Given the description of an element on the screen output the (x, y) to click on. 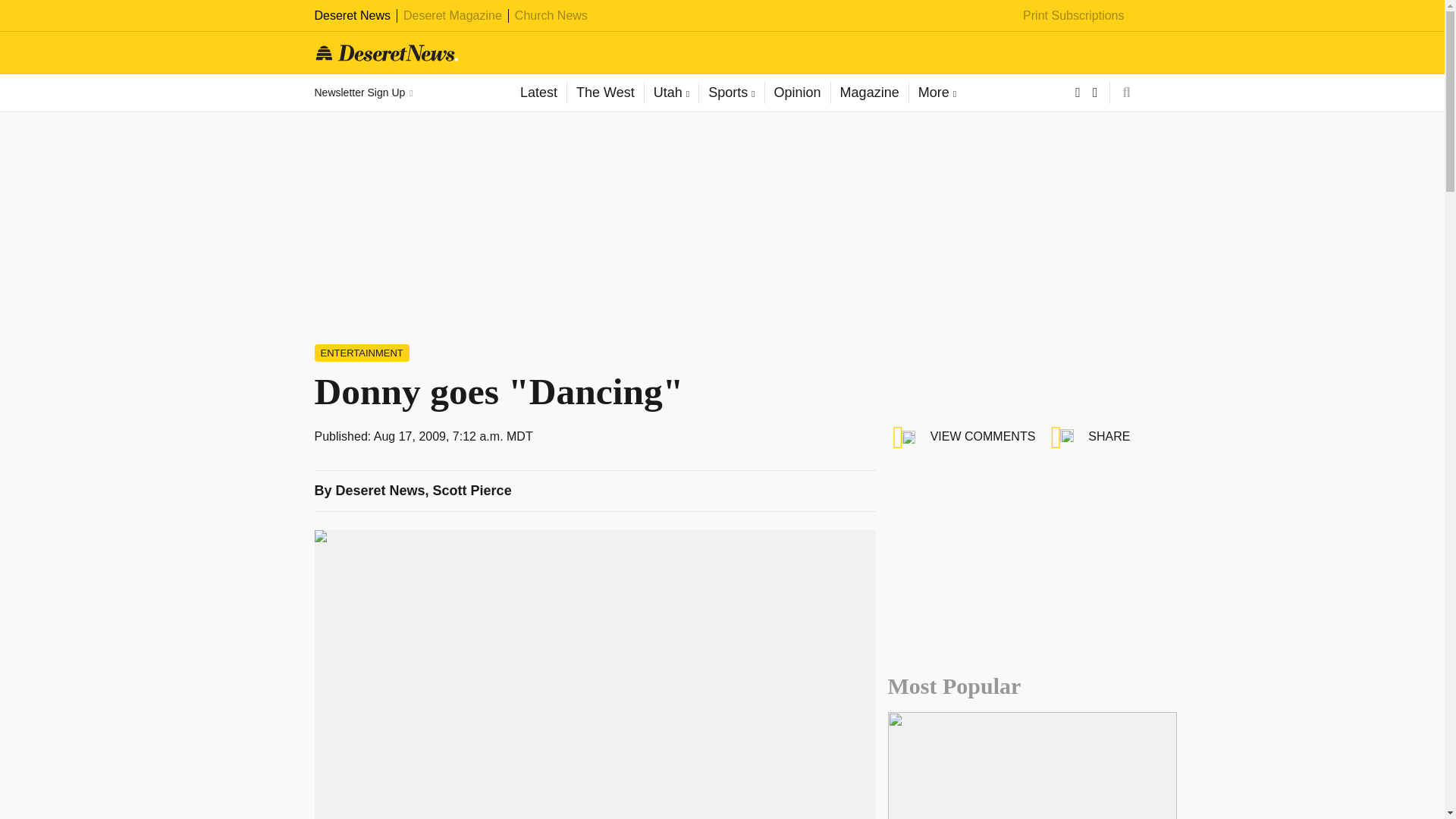
Deseret News (352, 15)
Opinion (796, 92)
Magazine (868, 92)
Utah (670, 92)
Church News (551, 15)
The West (604, 92)
Deseret News (380, 490)
ENTERTAINMENT (361, 352)
Newsletter Sign Up (363, 92)
Print Subscriptions (1073, 15)
